Given the description of an element on the screen output the (x, y) to click on. 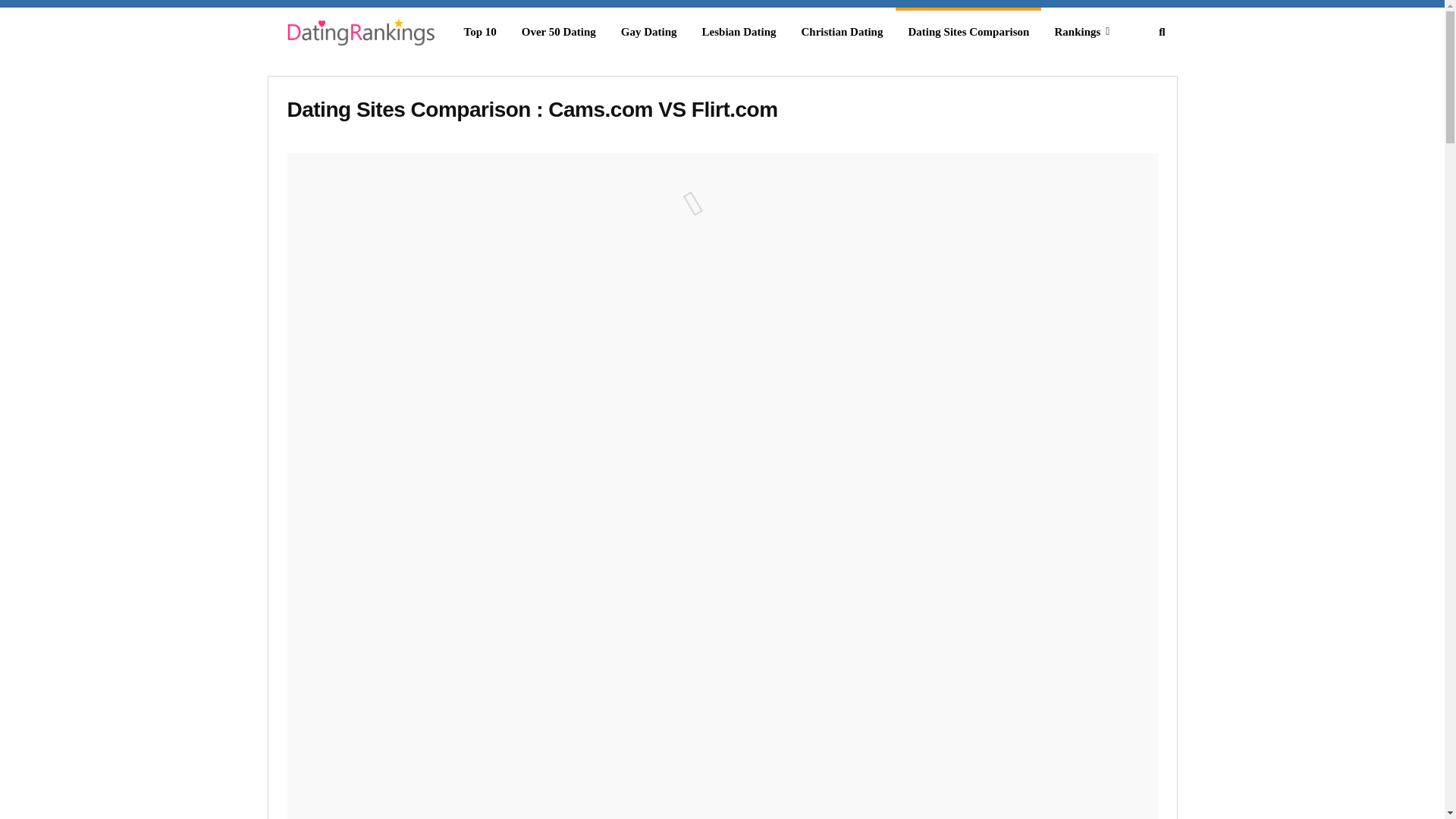
Rankings (1081, 31)
Top 10 (479, 31)
Top 10 Best Online Dating Sites Rankings (357, 35)
Lesbian Dating (739, 31)
Gay Dating (648, 31)
Over 50 Dating (558, 31)
Dating Sites Comparison (968, 31)
Christian Dating (842, 31)
